Given the description of an element on the screen output the (x, y) to click on. 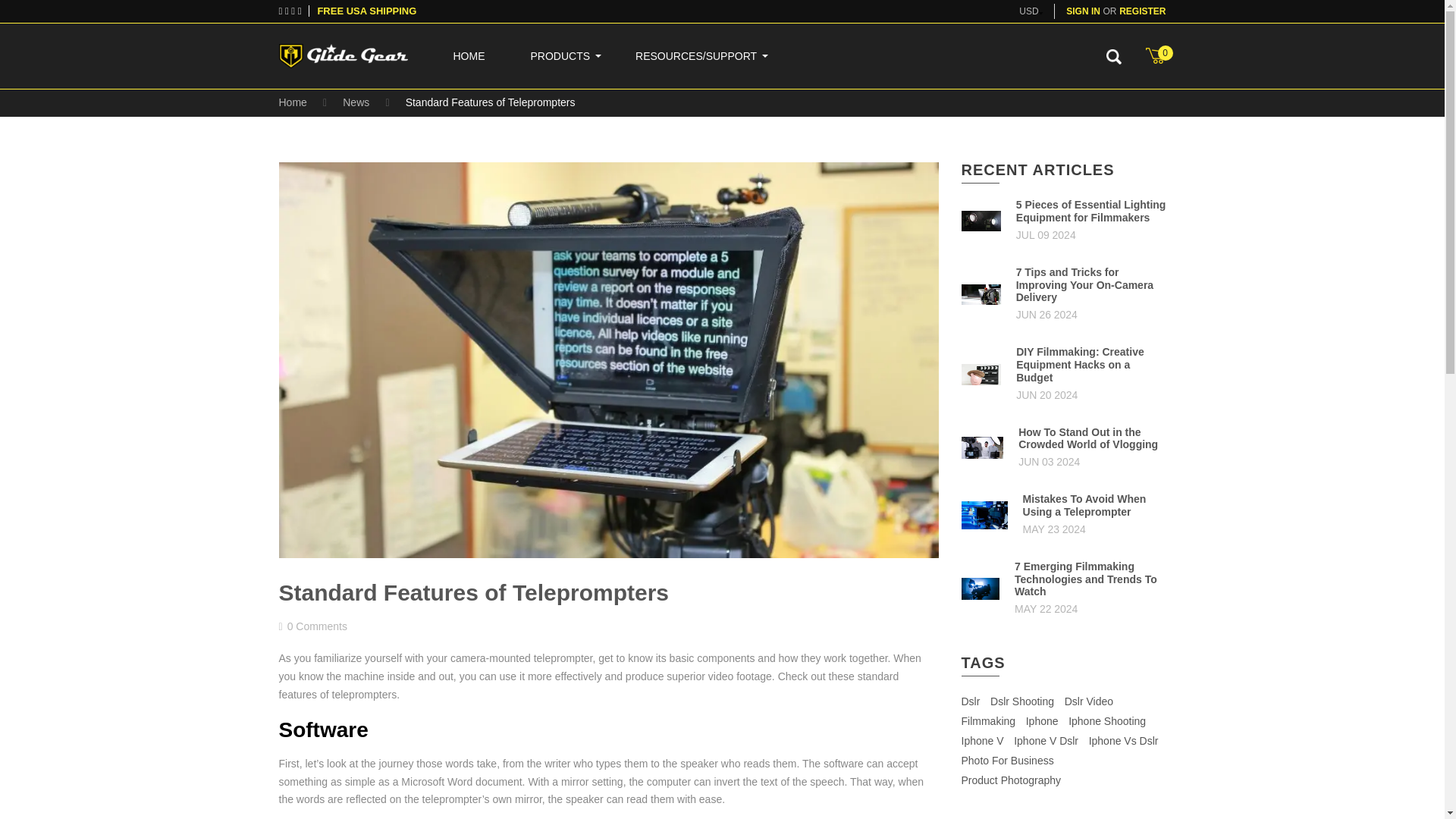
Search (1113, 56)
Back to the frontpage (293, 102)
Show articles tagged product photography (1010, 780)
Show articles tagged iphone shooting (1106, 721)
Show articles tagged dslr (969, 701)
Show articles tagged iphone v (982, 741)
Show articles tagged dslr video (1088, 701)
Show articles tagged iphone (1042, 721)
HOME (468, 55)
7 Tips and Tricks for Improving Your On-Camera Delivery (1091, 284)
SIGN IN (1082, 10)
Show articles tagged dslr shooting (1022, 701)
5 Pieces of Essential Lighting Equipment for Filmmakers (1091, 211)
Show articles tagged photo for business (1007, 760)
Standard Features of Teleprompters (474, 592)
